Given the description of an element on the screen output the (x, y) to click on. 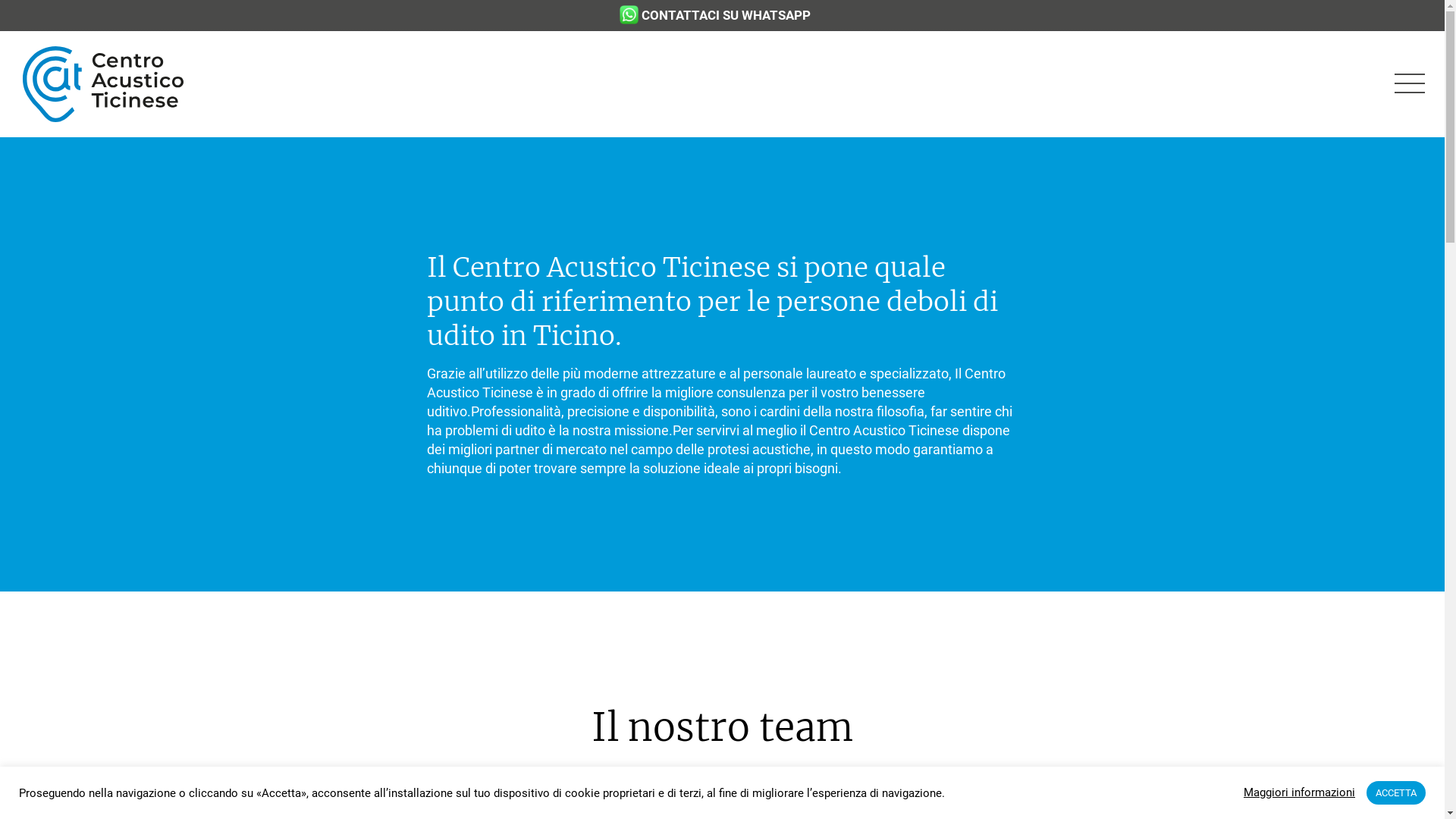
CONTATTACI SU WHATSAPP Element type: text (724, 14)
ACCETTA Element type: text (1395, 792)
Maggiori informazioni Element type: text (1299, 792)
